Given the description of an element on the screen output the (x, y) to click on. 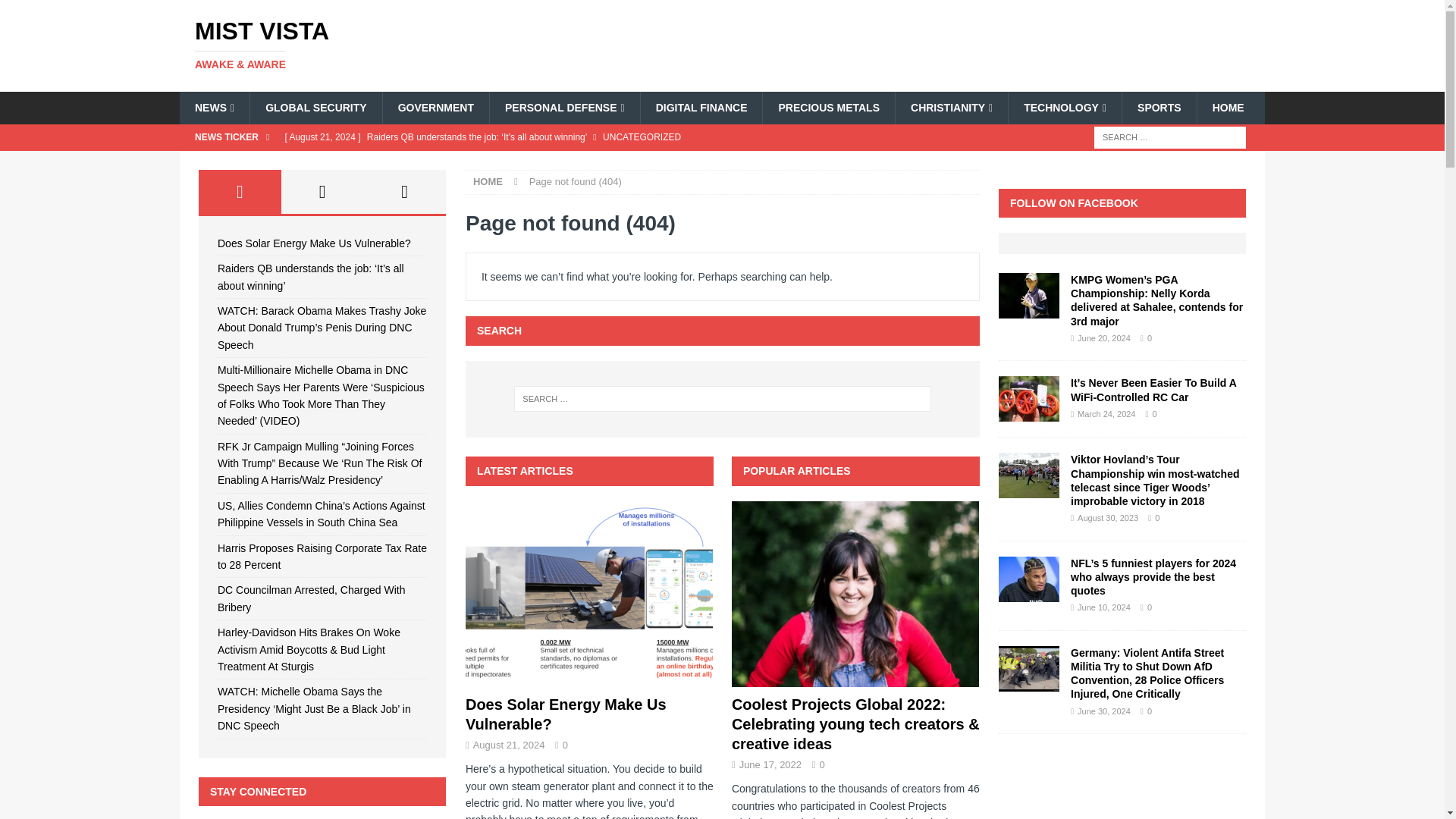
GLOBAL SECURITY (314, 107)
Search (56, 11)
TECHNOLOGY (1064, 107)
SPORTS (1158, 107)
Mist Vista (351, 44)
DIGITAL FINANCE (701, 107)
HOME (1227, 107)
Does Solar Energy Make Us Vulnerable? (565, 714)
Does Solar Energy Make Us Vulnerable? (589, 594)
GOVERNMENT (435, 107)
